Given the description of an element on the screen output the (x, y) to click on. 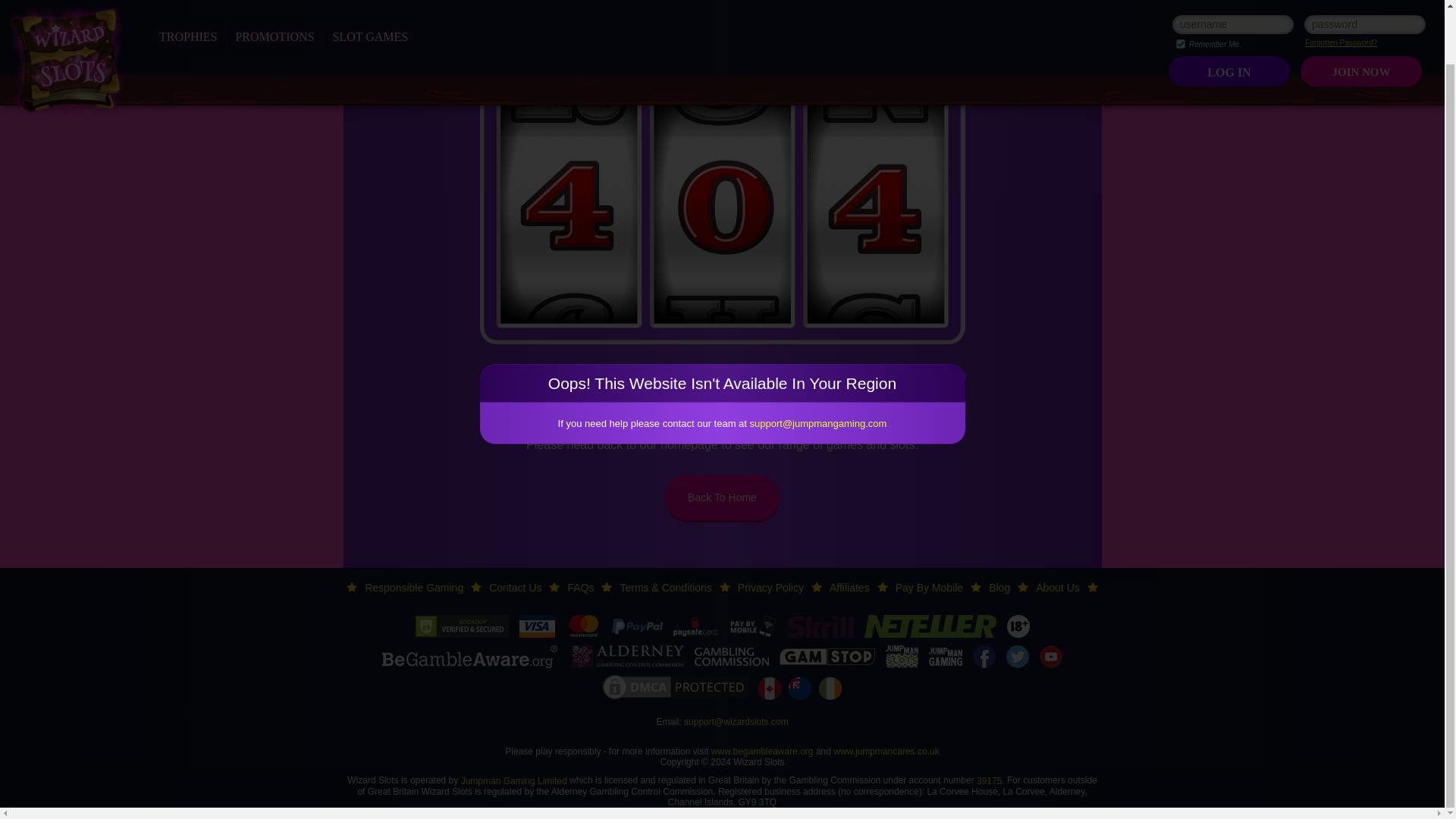
Privacy Policy (770, 587)
Pay By Mobile (928, 587)
Responsible Gaming (414, 587)
www.begambleaware.org (762, 751)
Jumpman Gaming Limited (514, 780)
www.jumpmancares.co.uk (885, 751)
39175 (988, 780)
Blog (999, 587)
Contact Us (515, 587)
Back To Home (721, 498)
